Given the description of an element on the screen output the (x, y) to click on. 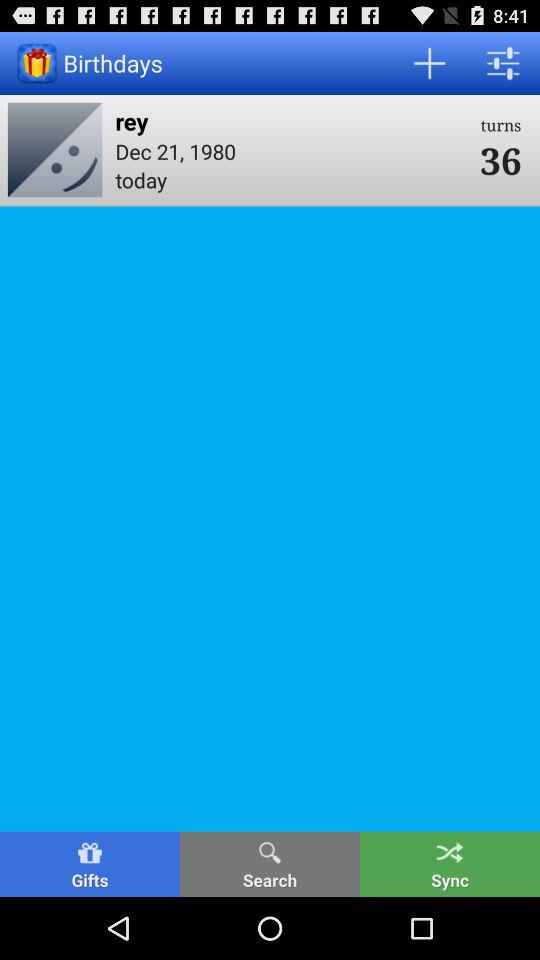
turn on item above the sync item (500, 159)
